Given the description of an element on the screen output the (x, y) to click on. 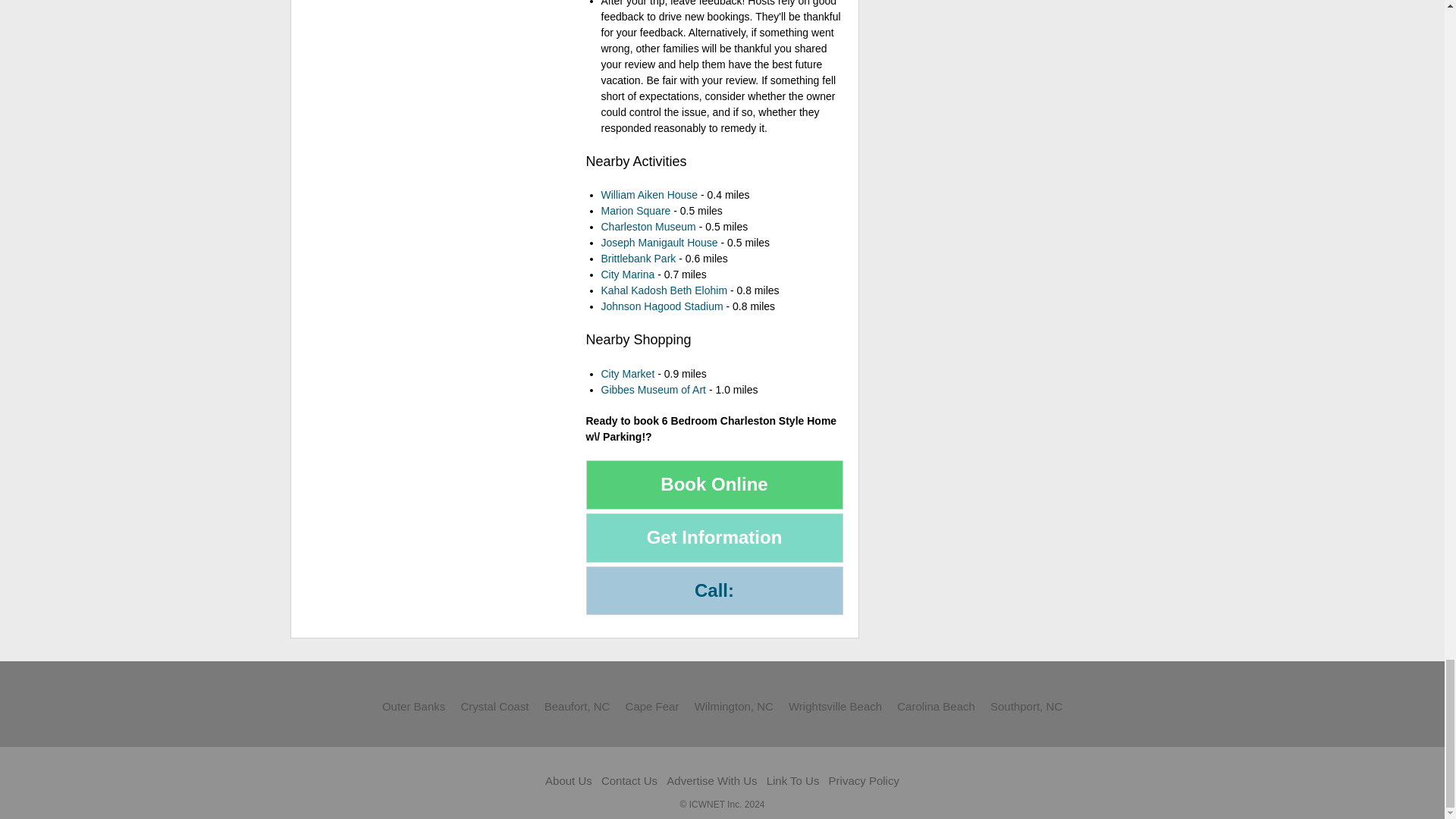
William Aiken House (648, 194)
City Marina (626, 274)
Charleston Museum (647, 226)
Joseph Manigault House (658, 242)
Book Online (714, 484)
Get Information (714, 537)
Call: (714, 590)
City Market (626, 373)
Gibbes Museum of Art (652, 389)
Kahal Kadosh Beth Elohim (662, 290)
